Given the description of an element on the screen output the (x, y) to click on. 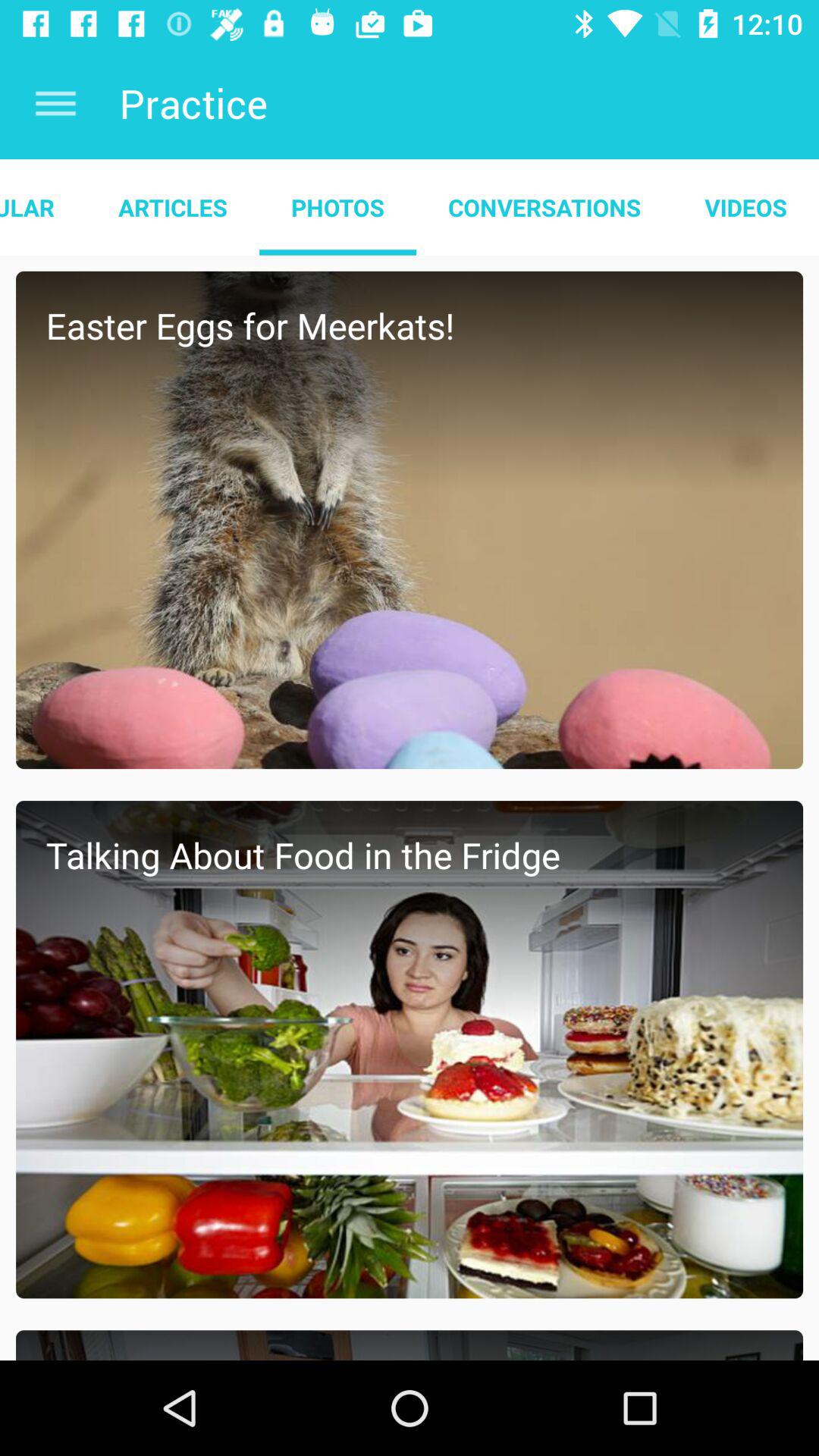
press item next to photos icon (544, 207)
